Given the description of an element on the screen output the (x, y) to click on. 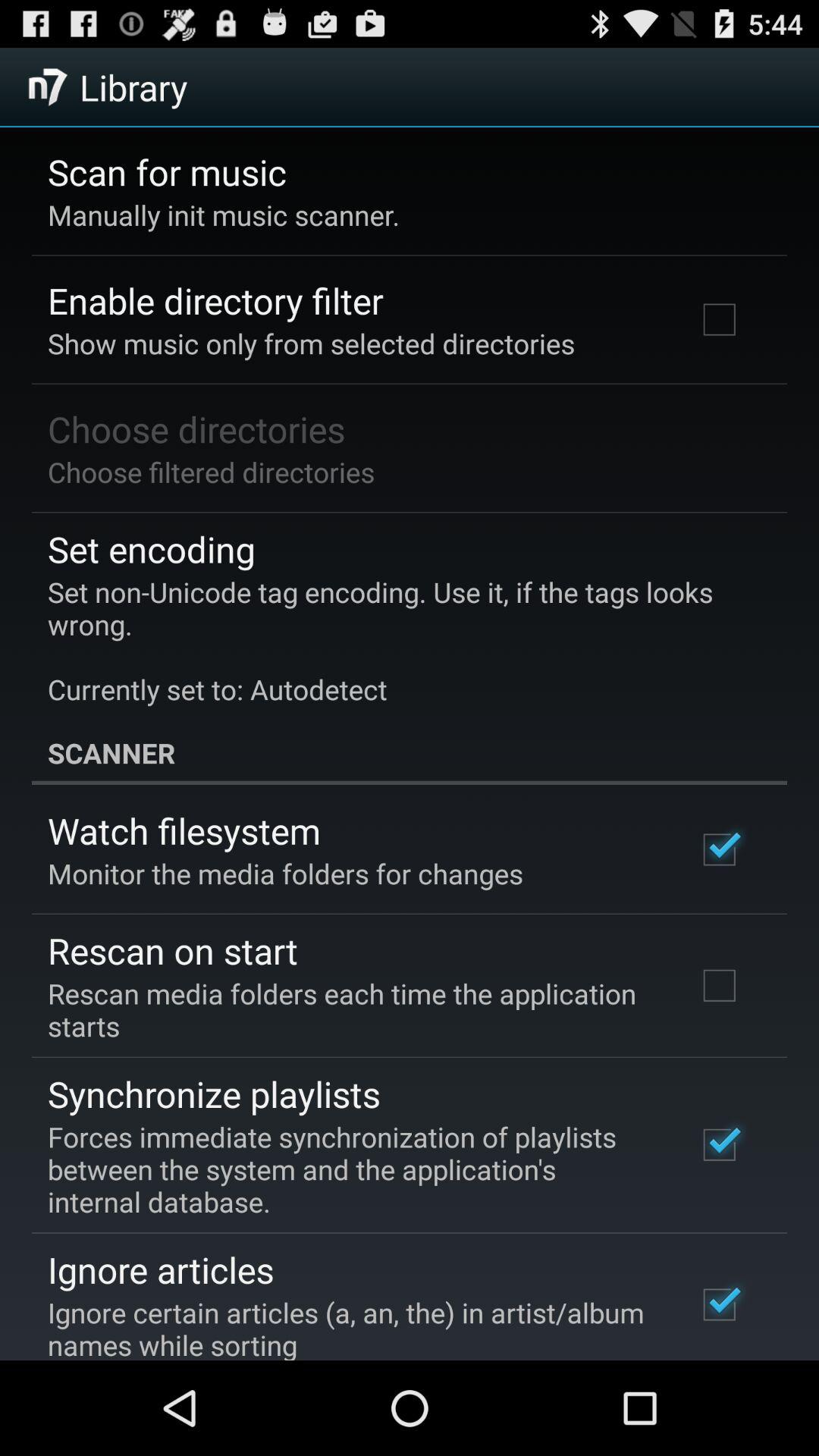
flip until the rescan on start app (172, 950)
